Given the description of an element on the screen output the (x, y) to click on. 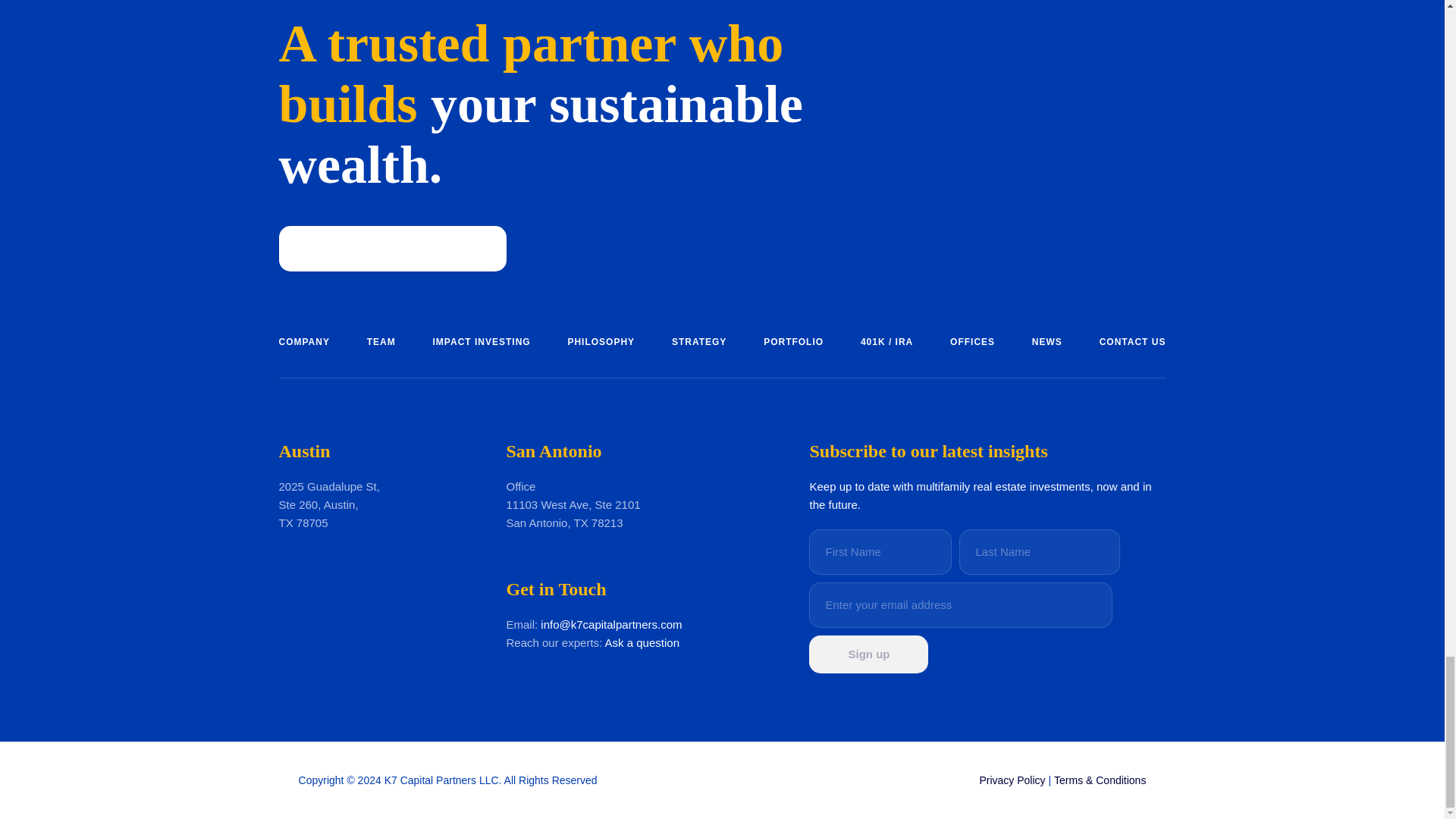
Sign up (868, 654)
